Given the description of an element on the screen output the (x, y) to click on. 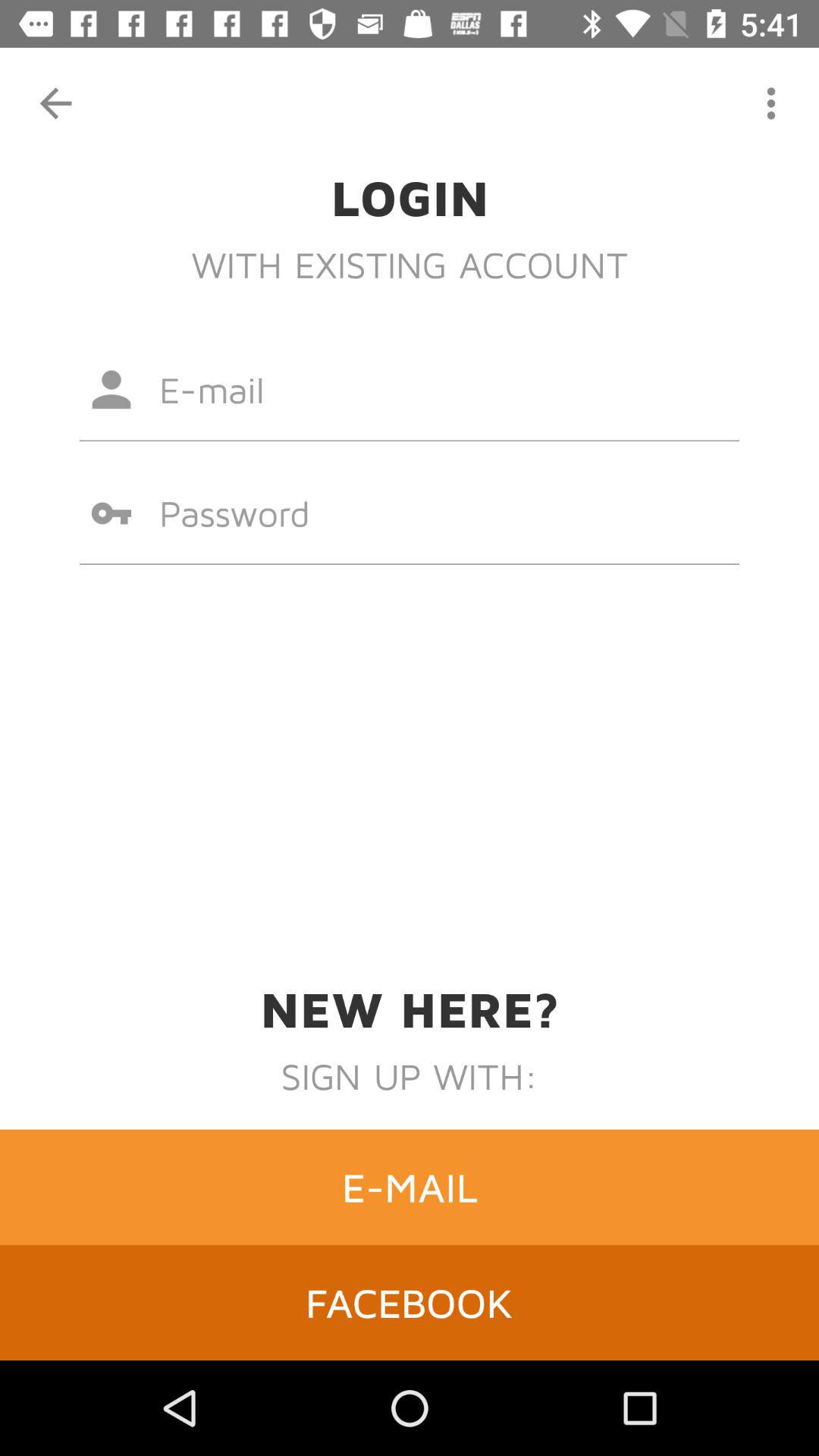
scroll to e-mail icon (409, 1186)
